Given the description of an element on the screen output the (x, y) to click on. 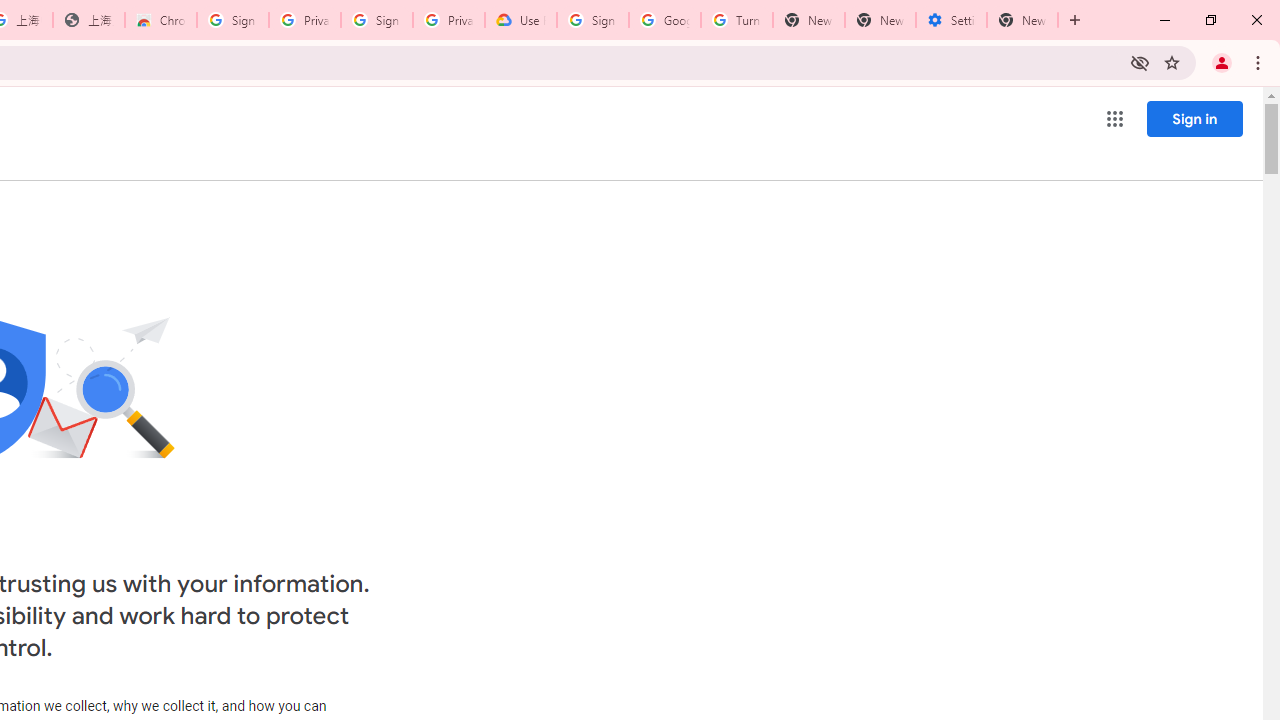
Sign in - Google Accounts (232, 20)
Sign in - Google Accounts (592, 20)
New Tab (1022, 20)
Google Account Help (664, 20)
Turn cookies on or off - Computer - Google Account Help (737, 20)
